Given the description of an element on the screen output the (x, y) to click on. 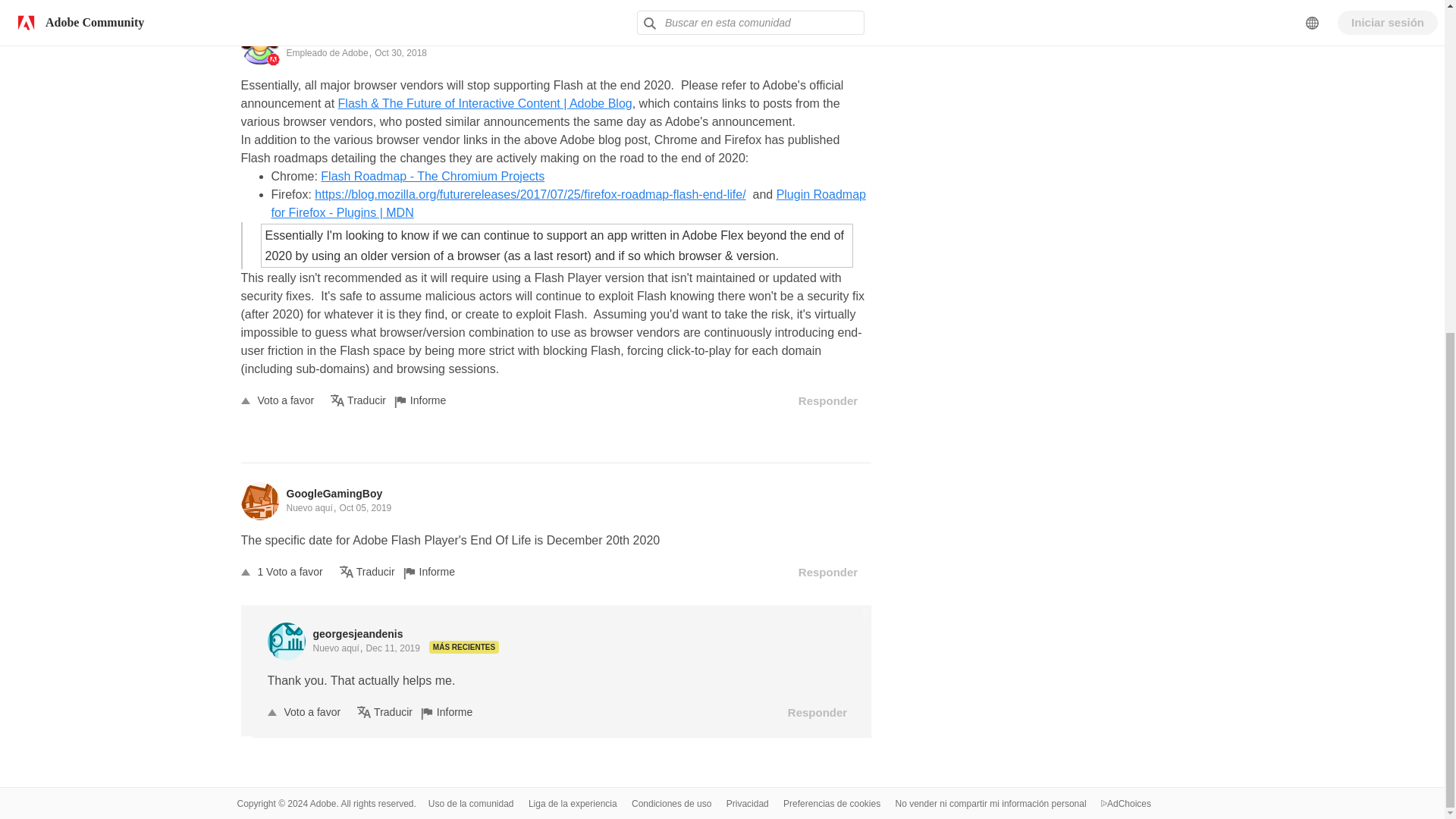
Flash Roadmap - The Chromium Projects (432, 175)
